Given the description of an element on the screen output the (x, y) to click on. 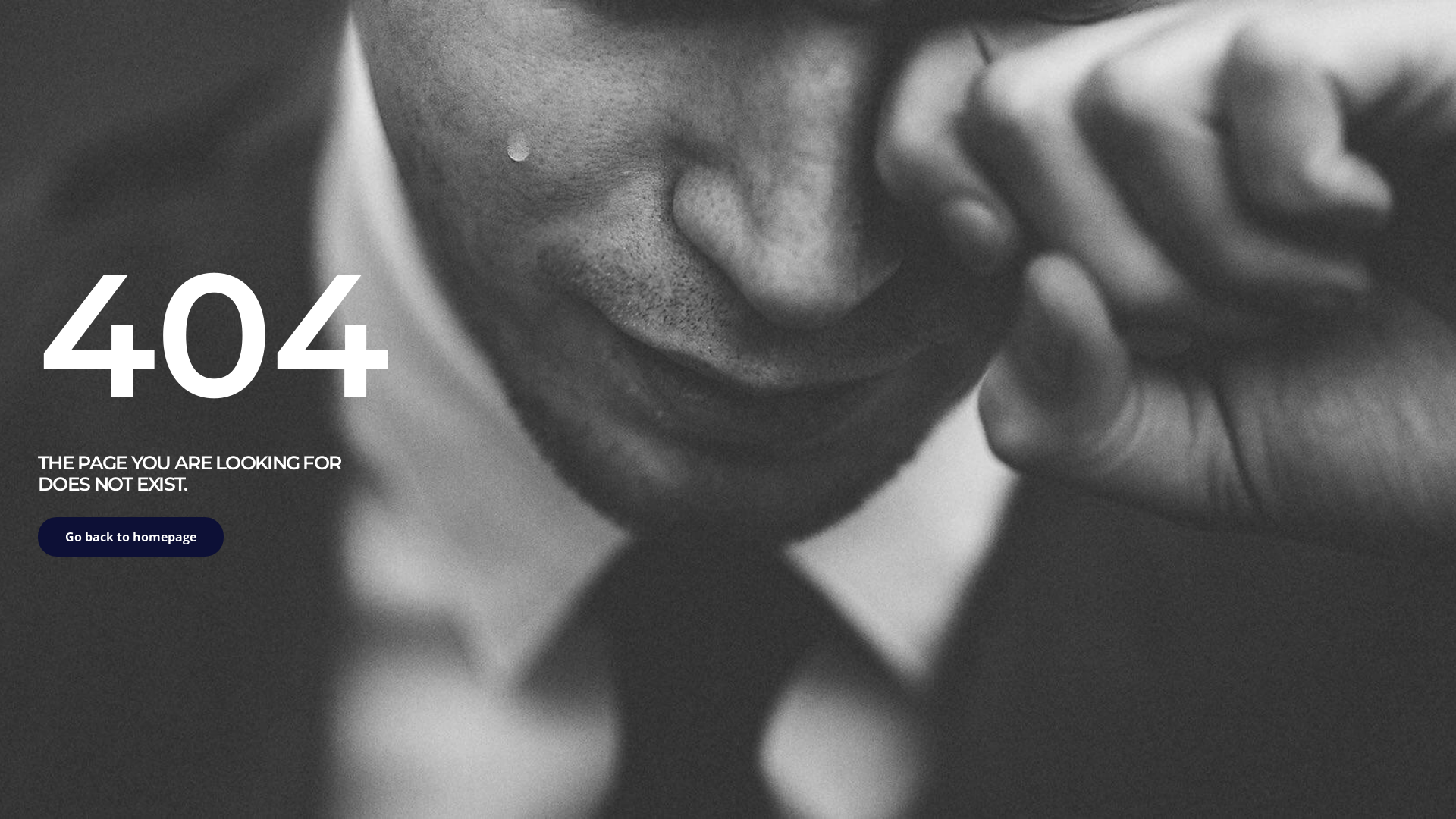
Go back to homepage Element type: text (130, 536)
